Given the description of an element on the screen output the (x, y) to click on. 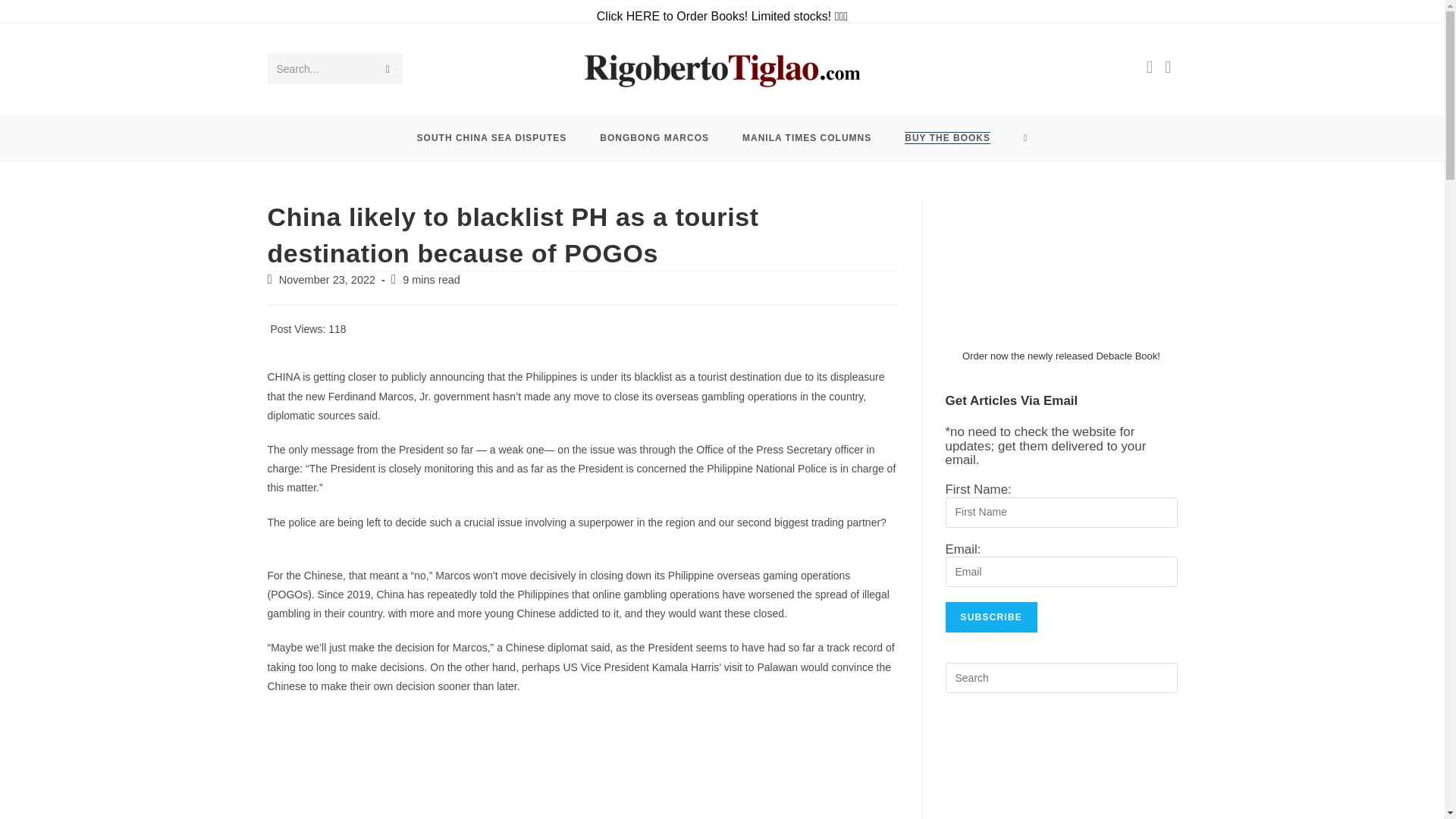
BUY THE BOOKS (947, 137)
Submit search (386, 69)
Delivery fee included! (947, 137)
BONGBONG MARCOS (654, 137)
Order now the newly released Debacle Book! (1061, 355)
SUBSCRIBE (990, 616)
SOUTH CHINA SEA DISPUTES (491, 137)
MANILA TIMES COLUMNS (806, 137)
